Given the description of an element on the screen output the (x, y) to click on. 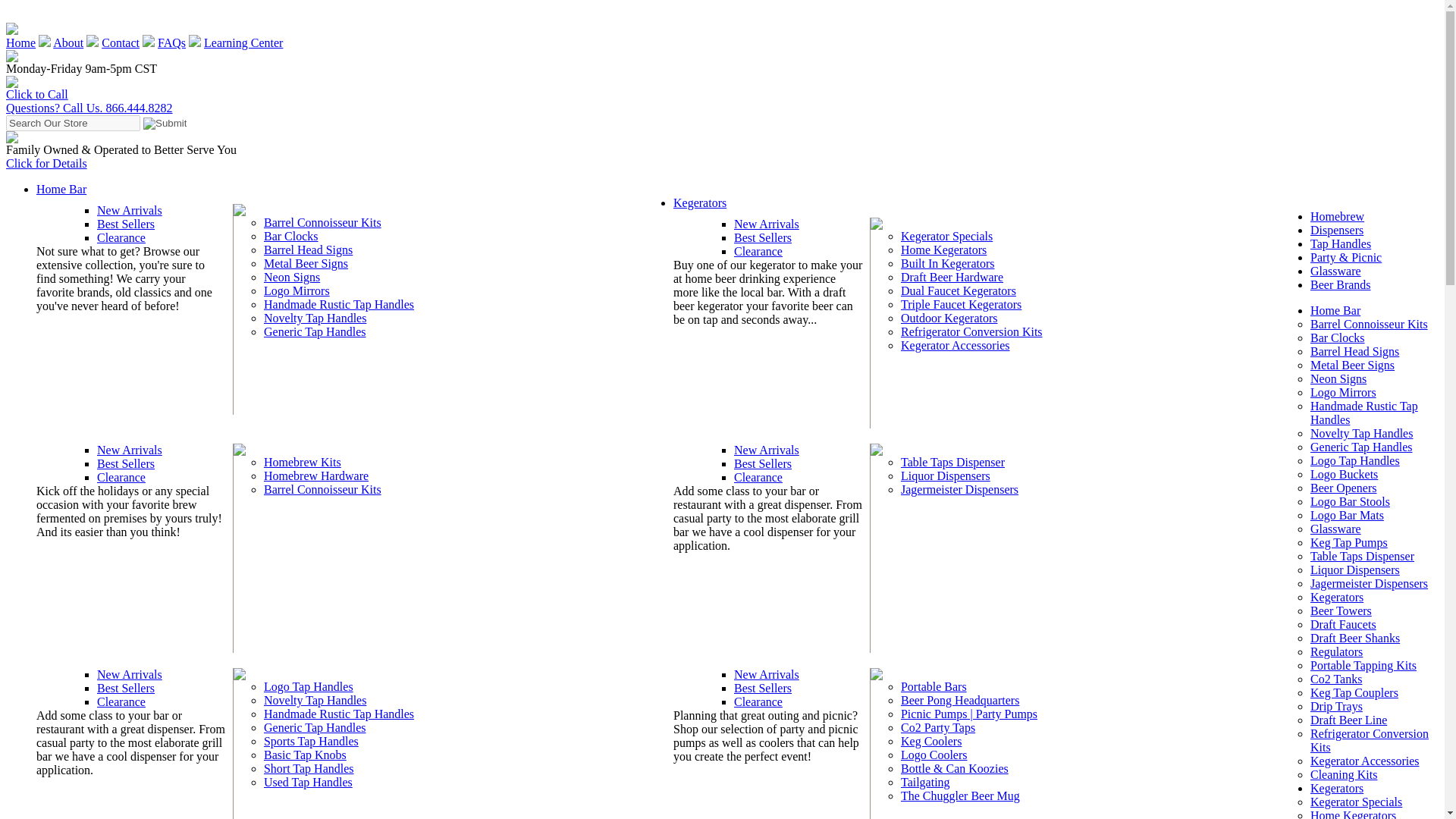
Home Kegerators (944, 249)
Contact (120, 42)
Built In Kegerators (947, 263)
Draft Beer Hardware (952, 277)
Home (19, 42)
Dual Faucet Kegerators (958, 290)
Neon Signs (291, 277)
Refrigerator Conversion Kits (971, 331)
Clearance (121, 237)
Clearance (758, 250)
Click for Details (46, 163)
Handmade Rustic Tap Handles (338, 304)
Kegerator Specials (946, 236)
Search Our Store (72, 123)
Barrel Connoisseur Kits (322, 222)
